Given the description of an element on the screen output the (x, y) to click on. 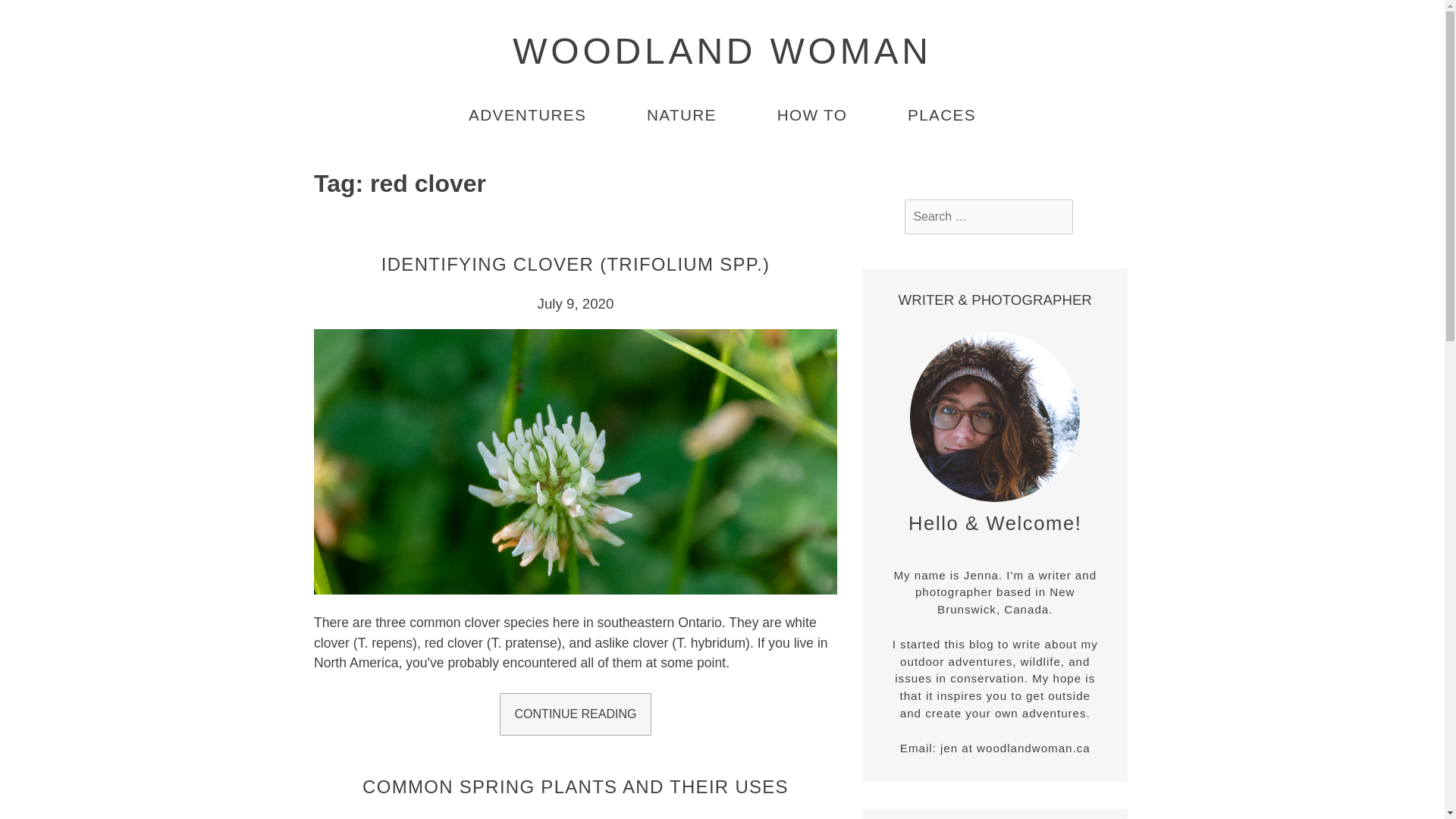
WOODLAND WOMAN (721, 51)
ADVENTURES (527, 116)
CONTINUE READING (574, 713)
PLACES (941, 116)
COMMON SPRING PLANTS AND THEIR USES (575, 786)
HOW TO (812, 116)
NATURE (681, 116)
